Given the description of an element on the screen output the (x, y) to click on. 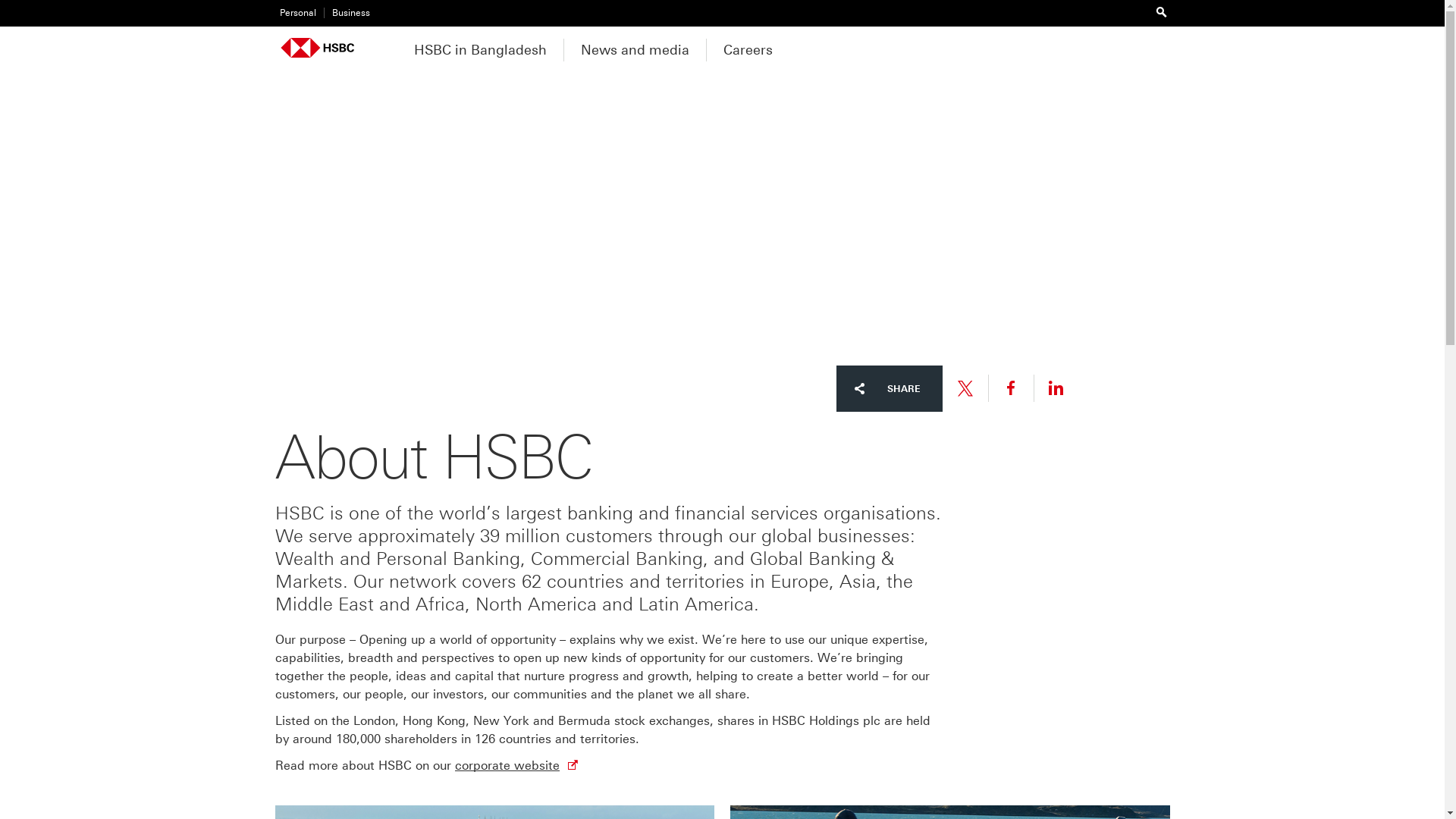
Personal Element type: text (294, 13)
Careers Element type: text (747, 47)
corporate website Element type: text (507, 765)
News and media Element type: text (634, 47)
HSBC in Bangladesh Element type: text (479, 47)
Search Element type: hover (1161, 12)
Business Element type: text (346, 13)
